Given the description of an element on the screen output the (x, y) to click on. 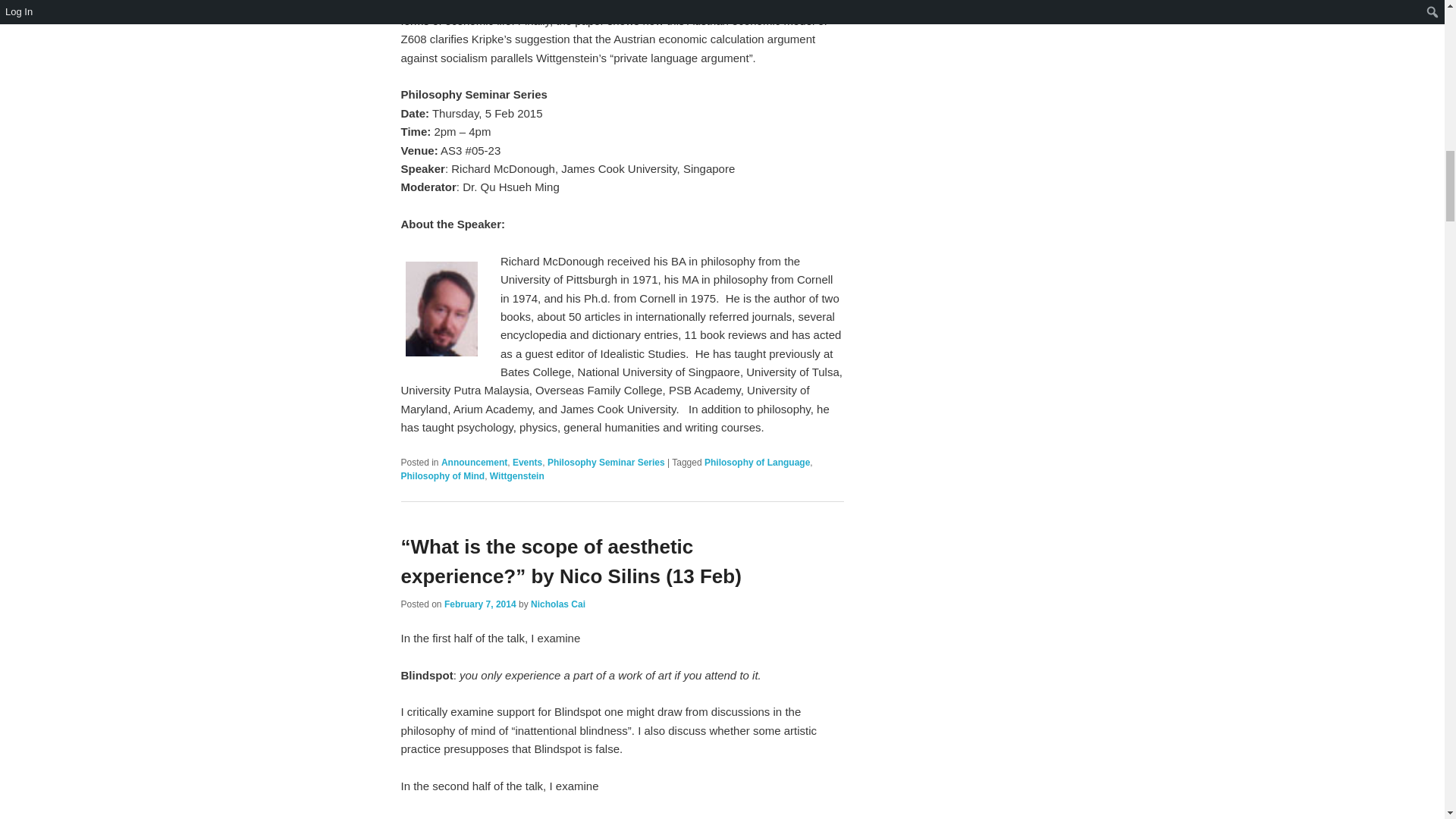
View all posts by Nicholas Cai (558, 603)
12:41 am (480, 603)
